Given the description of an element on the screen output the (x, y) to click on. 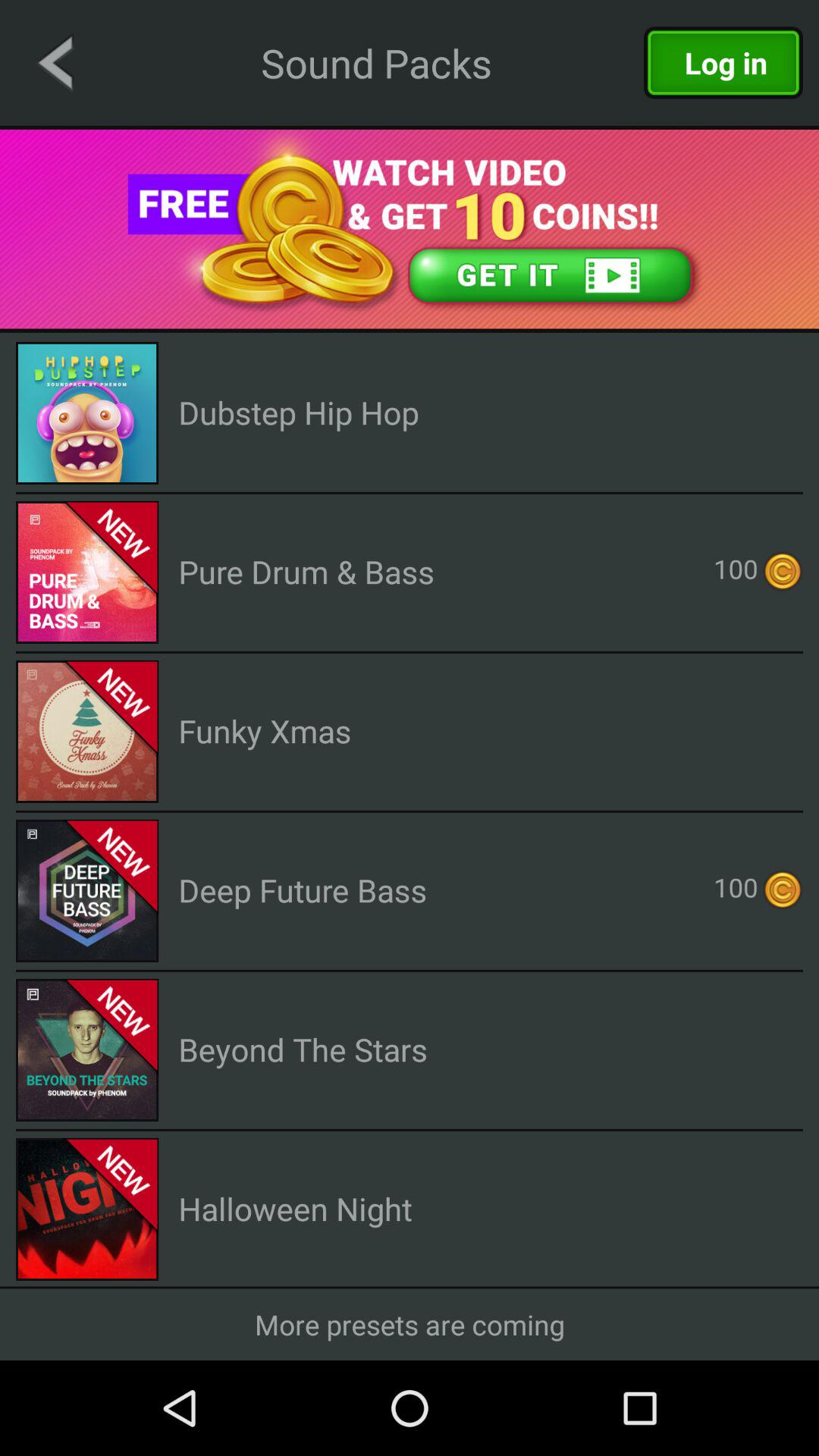
press the beyond the stars item (302, 1048)
